Given the description of an element on the screen output the (x, y) to click on. 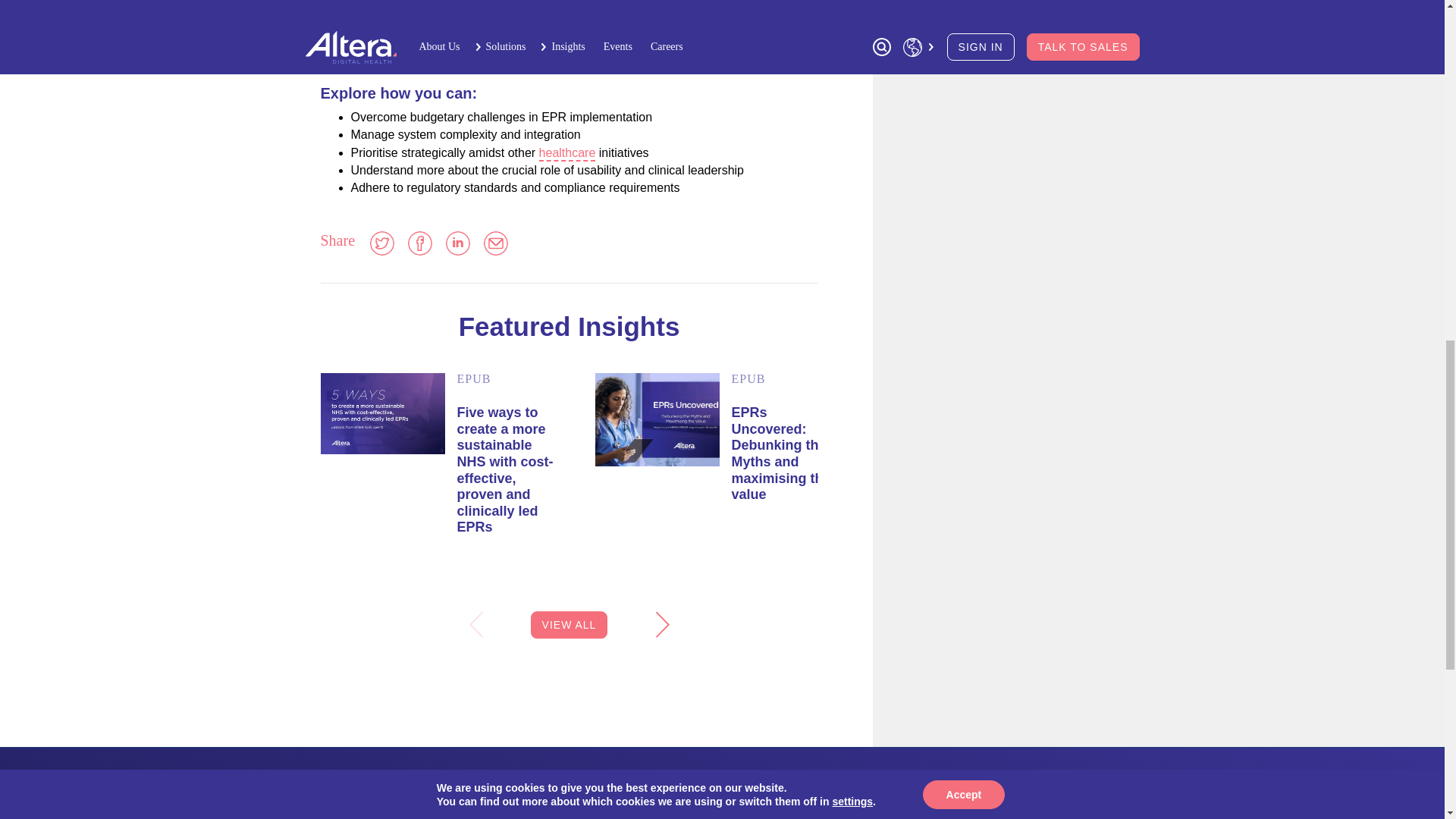
Read (382, 413)
Read More (779, 453)
Read (656, 419)
